Given the description of an element on the screen output the (x, y) to click on. 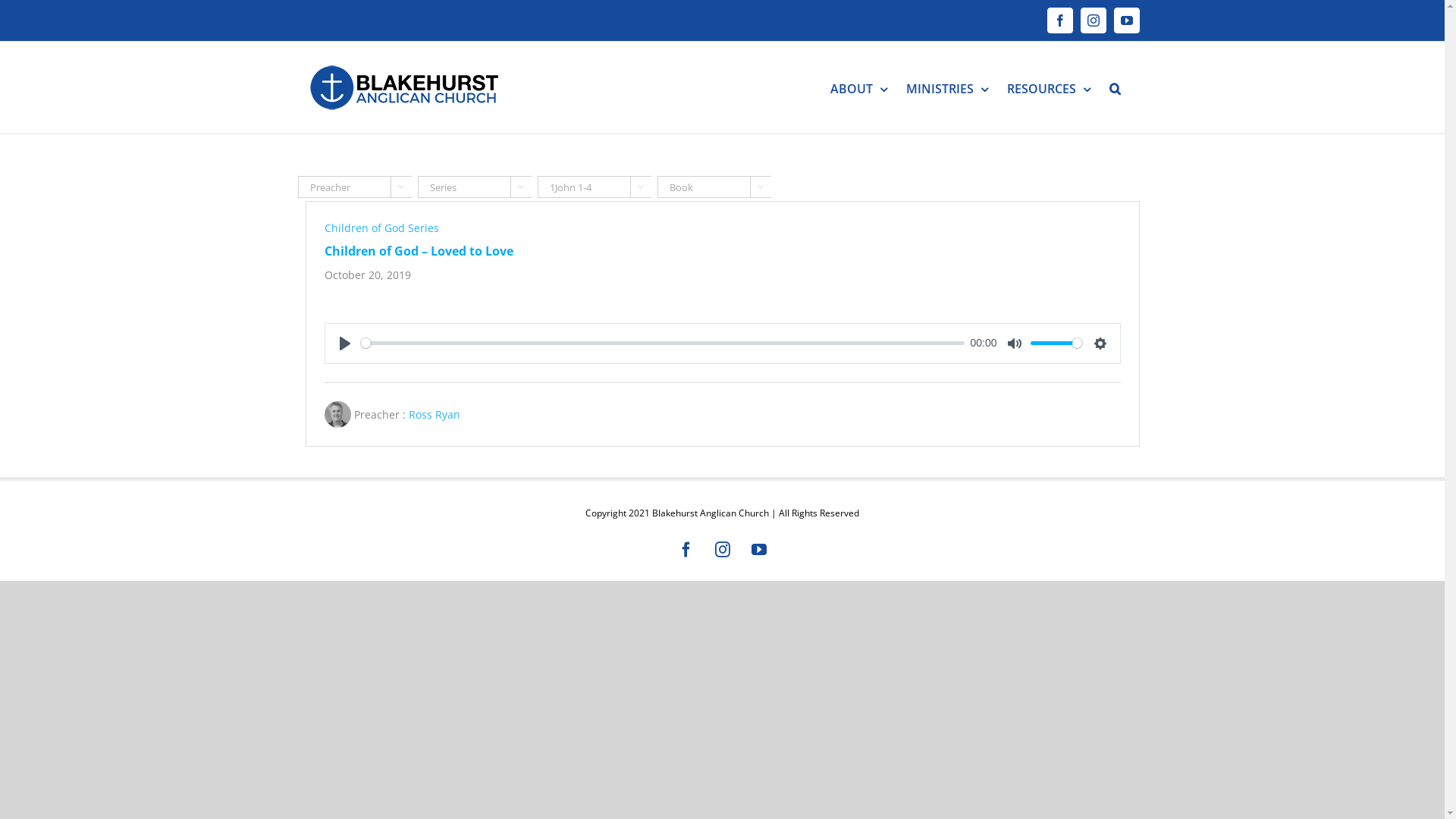
Search Element type: hover (1114, 87)
Instagram Element type: text (722, 549)
YouTube Element type: text (758, 549)
Settings Element type: text (1099, 343)
RESOURCES Element type: text (1048, 87)
Instagram Element type: text (1092, 20)
Play Element type: text (344, 343)
Children of God Series Element type: text (381, 227)
Facebook Element type: text (685, 549)
YouTube Element type: text (1126, 20)
MINISTRIES Element type: text (946, 87)
Facebook Element type: text (1059, 20)
ABOUT Element type: text (857, 87)
Mute Element type: text (1014, 343)
Ross Ryan Element type: text (433, 414)
